Given the description of an element on the screen output the (x, y) to click on. 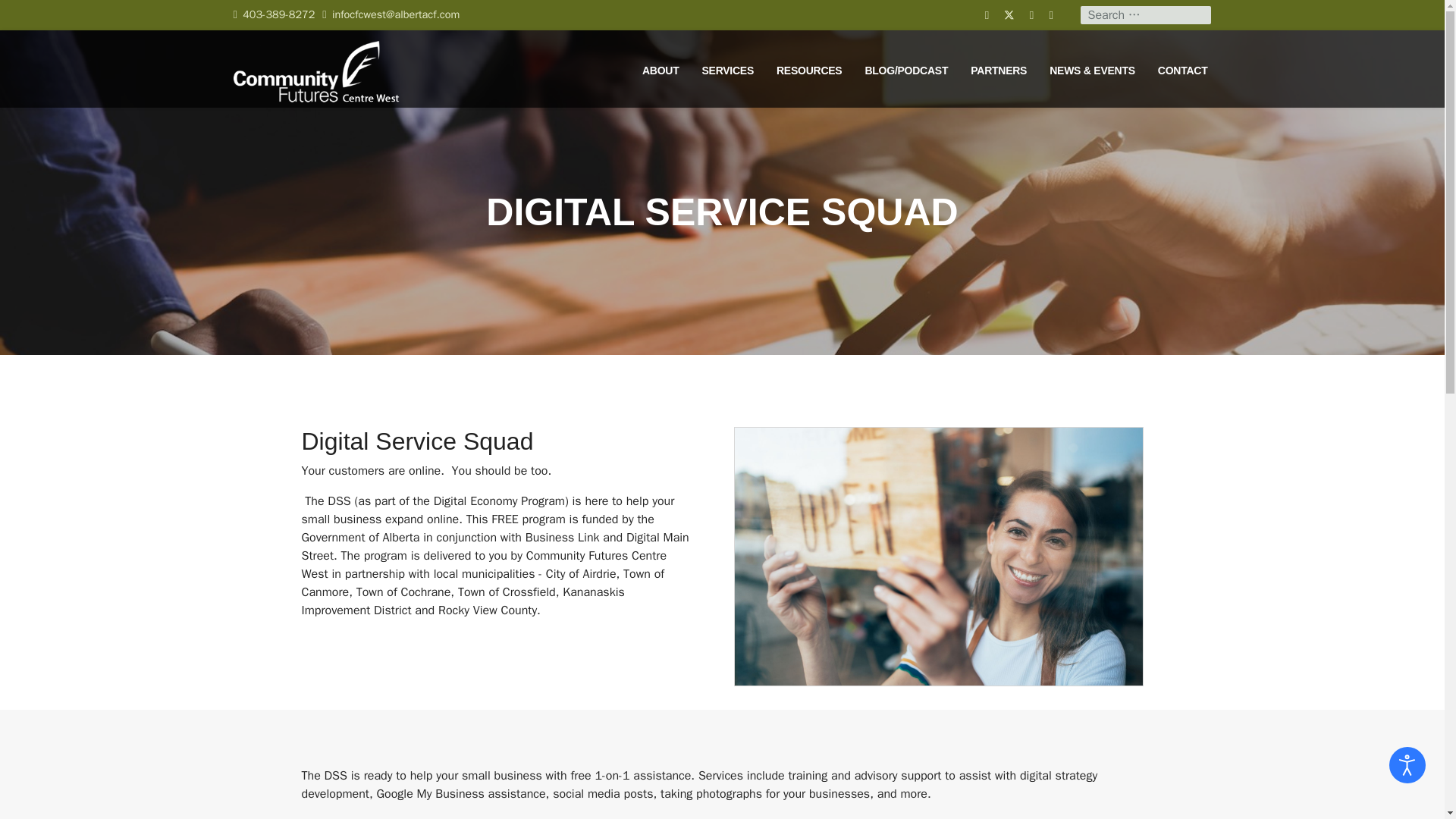
Open accessibility tools (1407, 764)
403-389-8272 (278, 14)
